Given the description of an element on the screen output the (x, y) to click on. 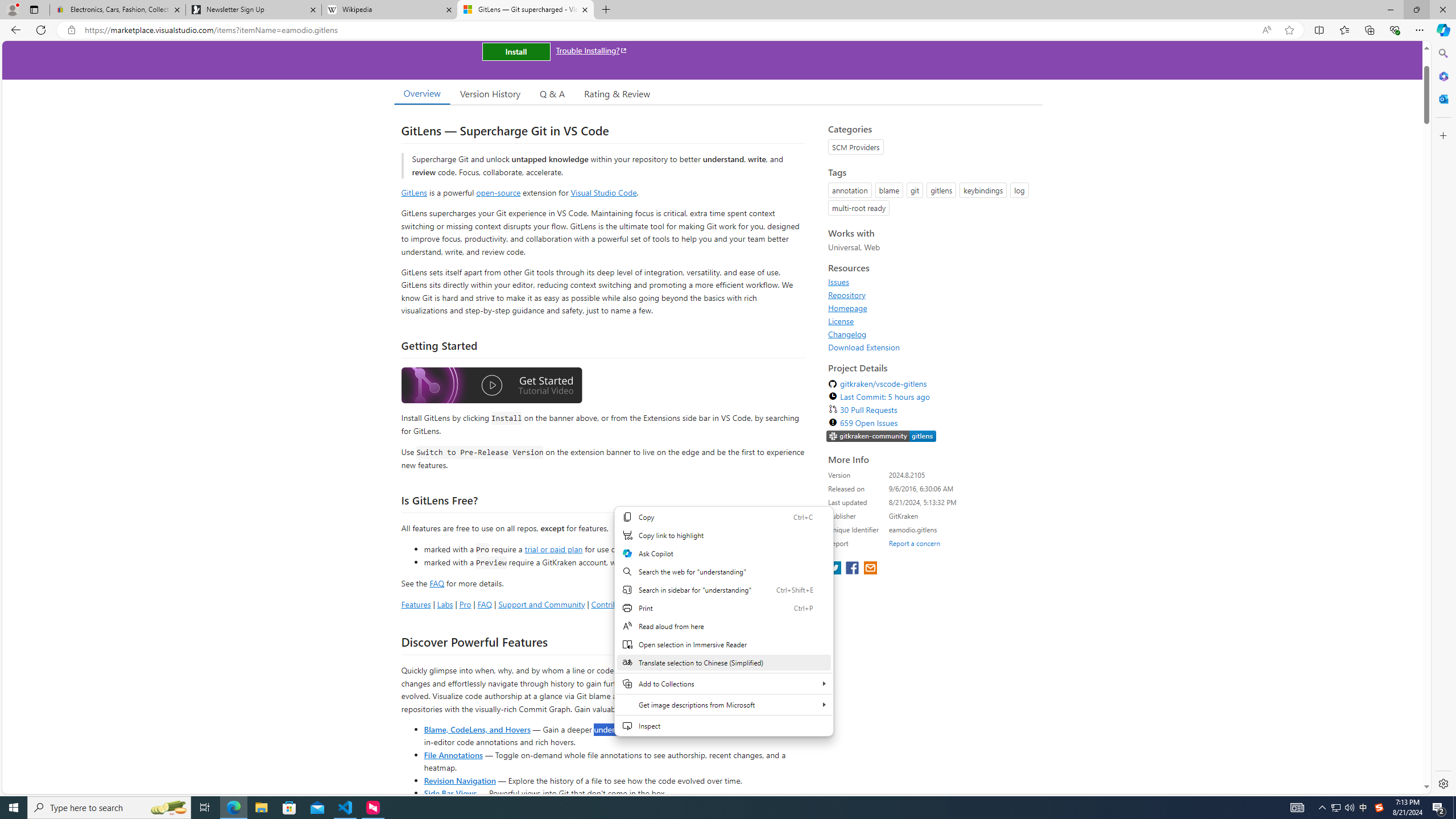
Support and Community (541, 603)
Features (415, 603)
Search in sidebar for "understanding" (723, 589)
Revision Navigation (459, 780)
Inspect (723, 725)
Version History (489, 92)
Repository (931, 294)
